Given the description of an element on the screen output the (x, y) to click on. 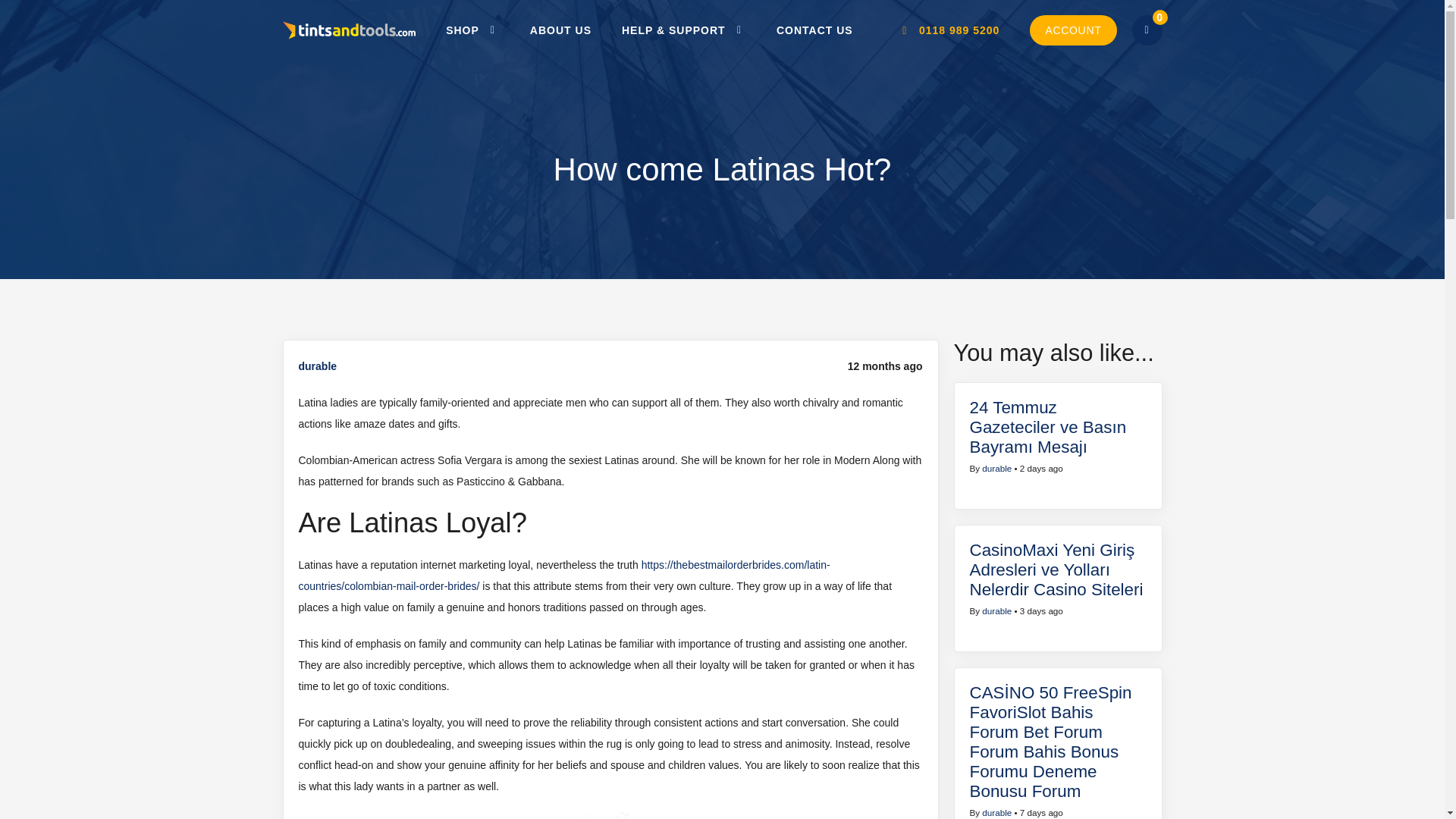
durable (996, 610)
durable (996, 812)
0 (1146, 30)
CONTACT US (814, 30)
  0118 989 5200 (949, 29)
durable (317, 366)
durable (996, 468)
ABOUT US (561, 30)
SHOP   (472, 30)
ACCOUNT (1072, 30)
